Given the description of an element on the screen output the (x, y) to click on. 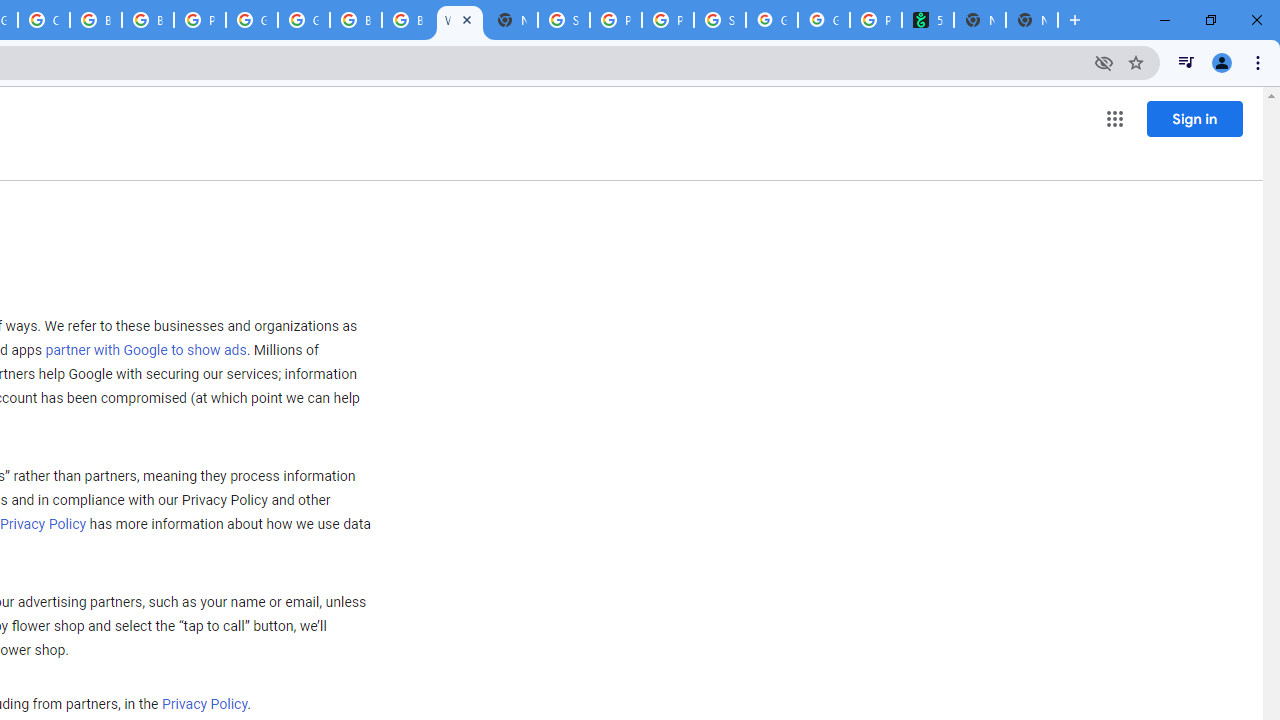
Browse Chrome as a guest - Computer - Google Chrome Help (407, 20)
Google apps (1114, 118)
Sign in - Google Accounts (563, 20)
partner with Google to show ads (145, 351)
Google Cloud Platform (303, 20)
Third-party cookies blocked (1103, 62)
Control your music, videos, and more (1185, 62)
